Given the description of an element on the screen output the (x, y) to click on. 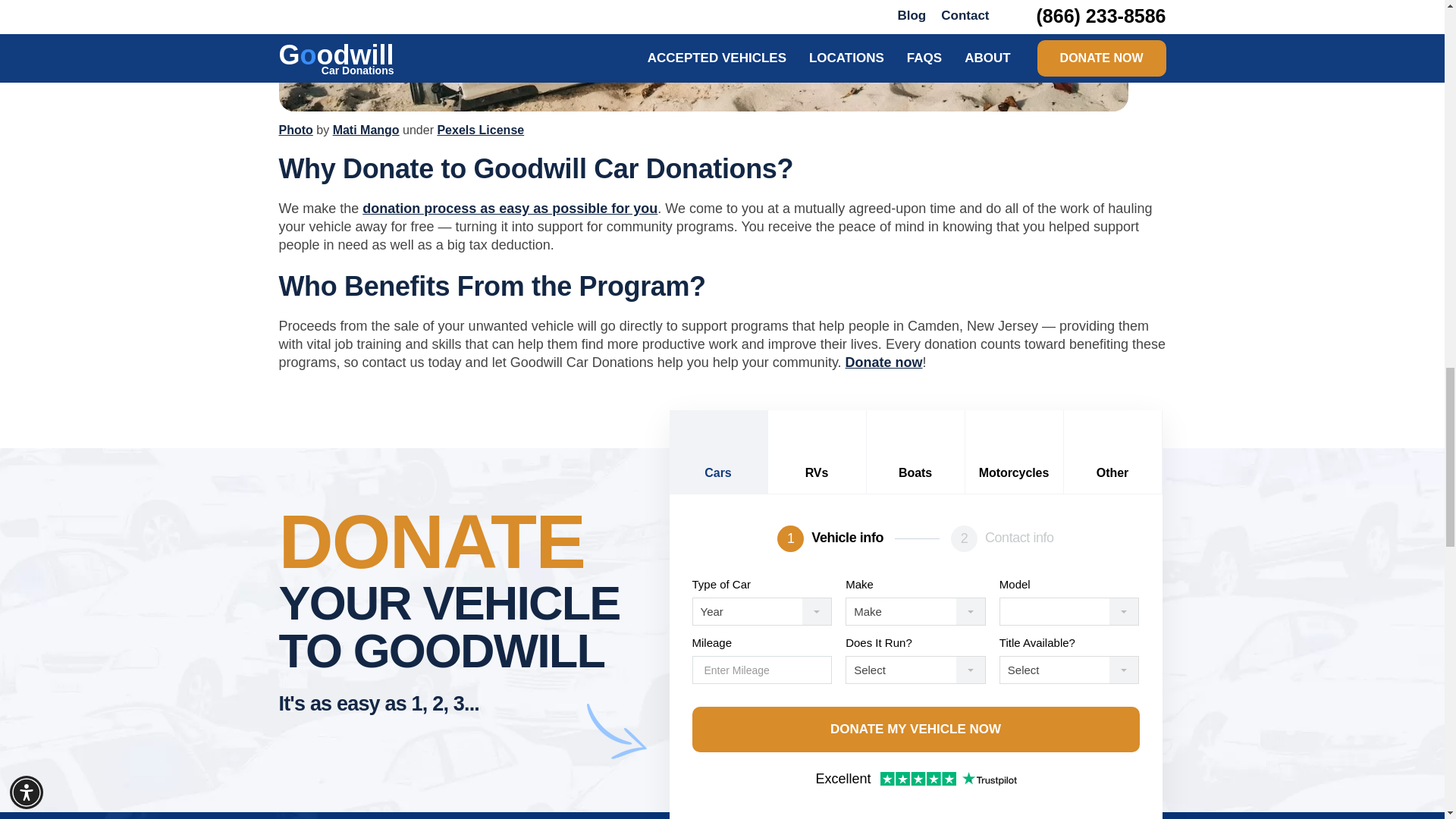
Mati Mango (365, 129)
Pexels License (480, 129)
Photo (296, 129)
Donate now (884, 362)
Customer reviews powered by Trustpilot (915, 780)
DONATE MY VEHICLE NOW (914, 729)
donation process as easy as possible for you (510, 208)
